Given the description of an element on the screen output the (x, y) to click on. 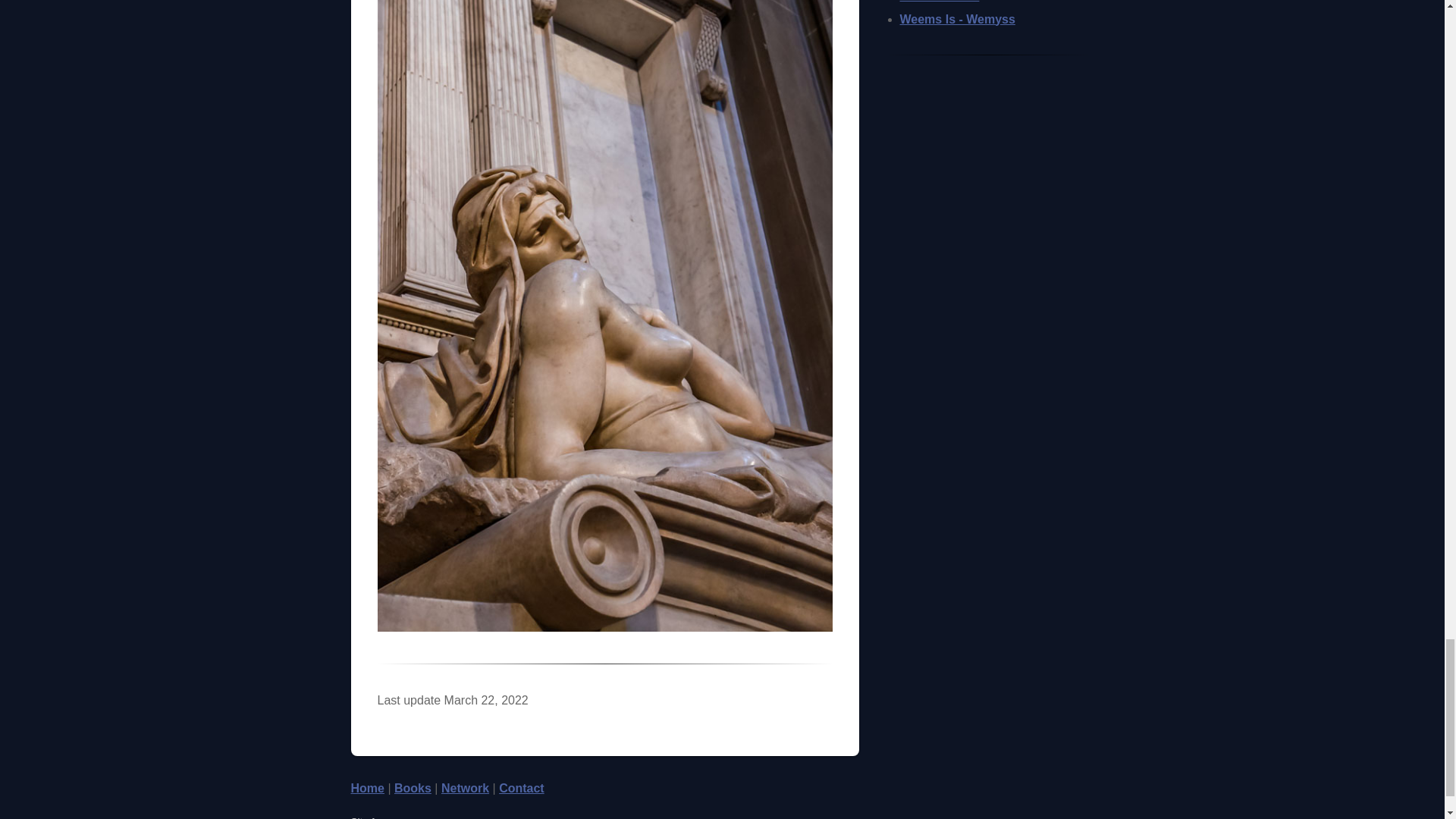
Network (465, 788)
Home (367, 788)
Books (412, 788)
Weems Is - Wemyss (956, 18)
Where to Flee (938, 1)
Contact (521, 788)
